Given the description of an element on the screen output the (x, y) to click on. 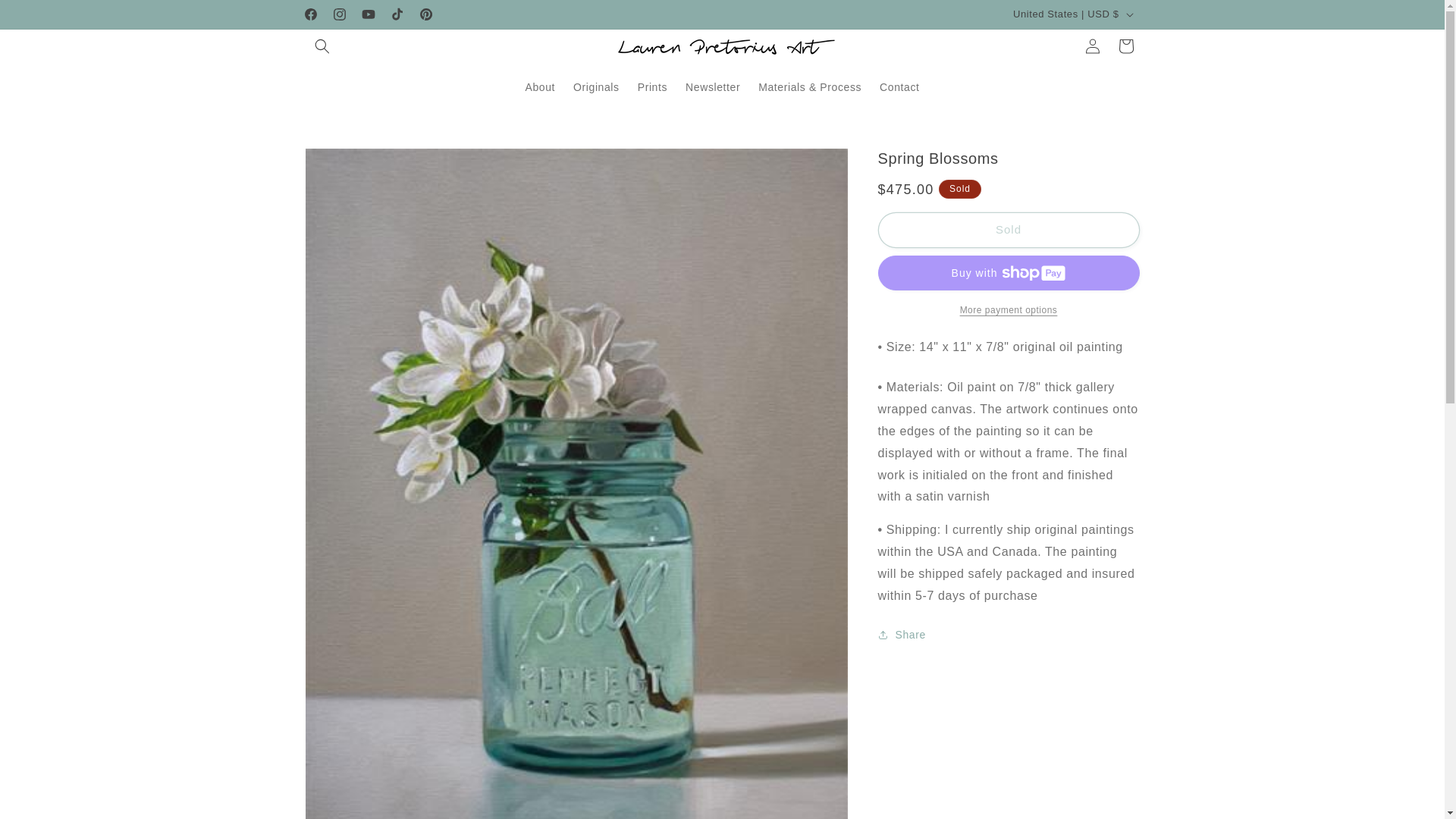
YouTube (367, 14)
Originals (596, 87)
Newsletter (713, 87)
Pinterest (424, 14)
About (539, 87)
Skip to content (45, 17)
Instagram (338, 14)
Log in (1091, 46)
Contact (899, 87)
TikTok (395, 14)
Prints (652, 87)
Facebook (309, 14)
